Given the description of an element on the screen output the (x, y) to click on. 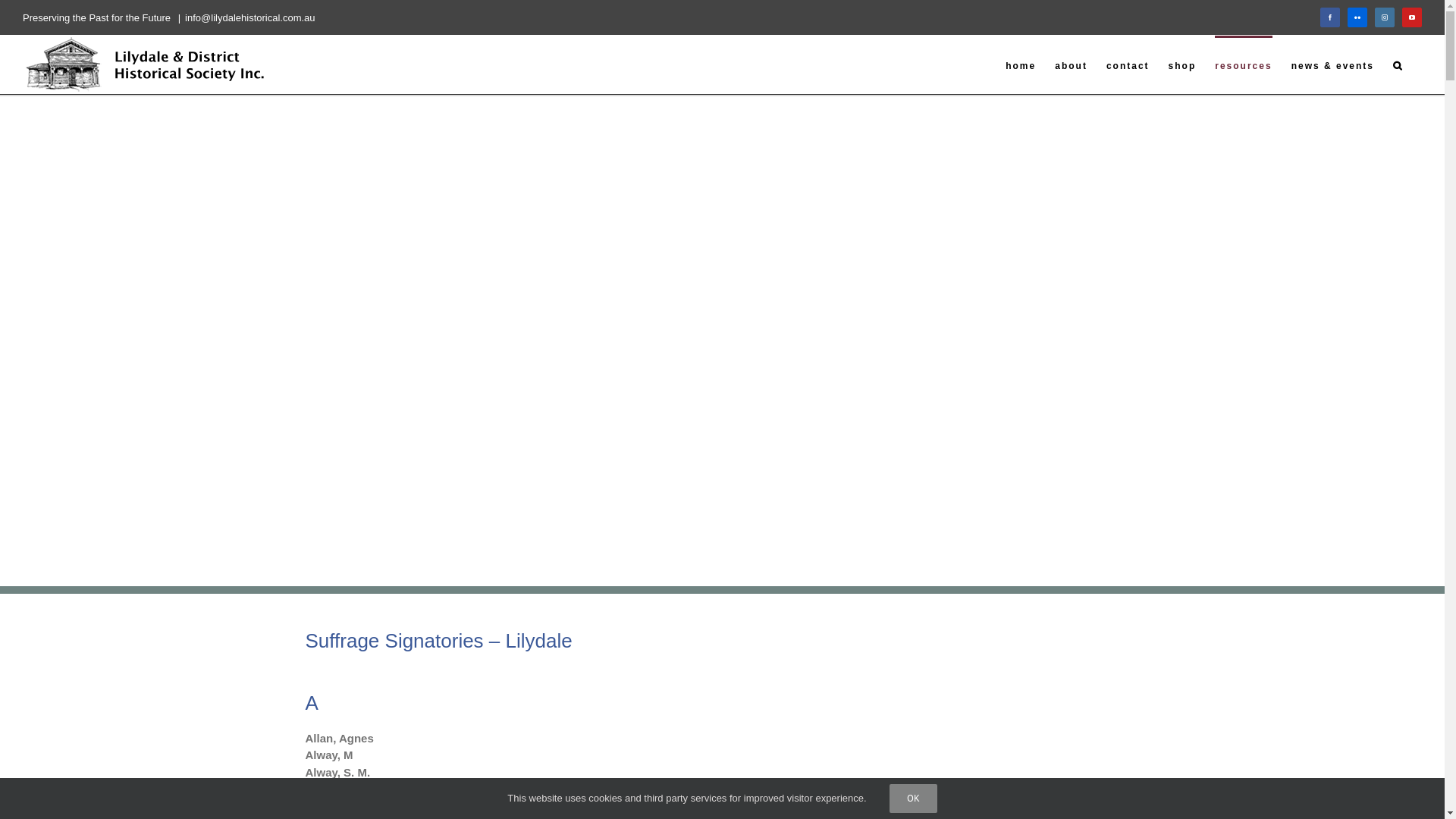
resources Element type: text (1242, 64)
Facebook Element type: text (1329, 17)
Flickr Element type: text (1357, 17)
Search Element type: hover (1397, 64)
shop Element type: text (1182, 64)
Instagram Element type: text (1384, 17)
YouTube Element type: text (1411, 17)
about Element type: text (1070, 64)
OK Element type: text (913, 798)
contact Element type: text (1127, 64)
home Element type: text (1020, 64)
news & events Element type: text (1332, 64)
info@lilydalehistorical.com.au Element type: text (249, 17)
